Given the description of an element on the screen output the (x, y) to click on. 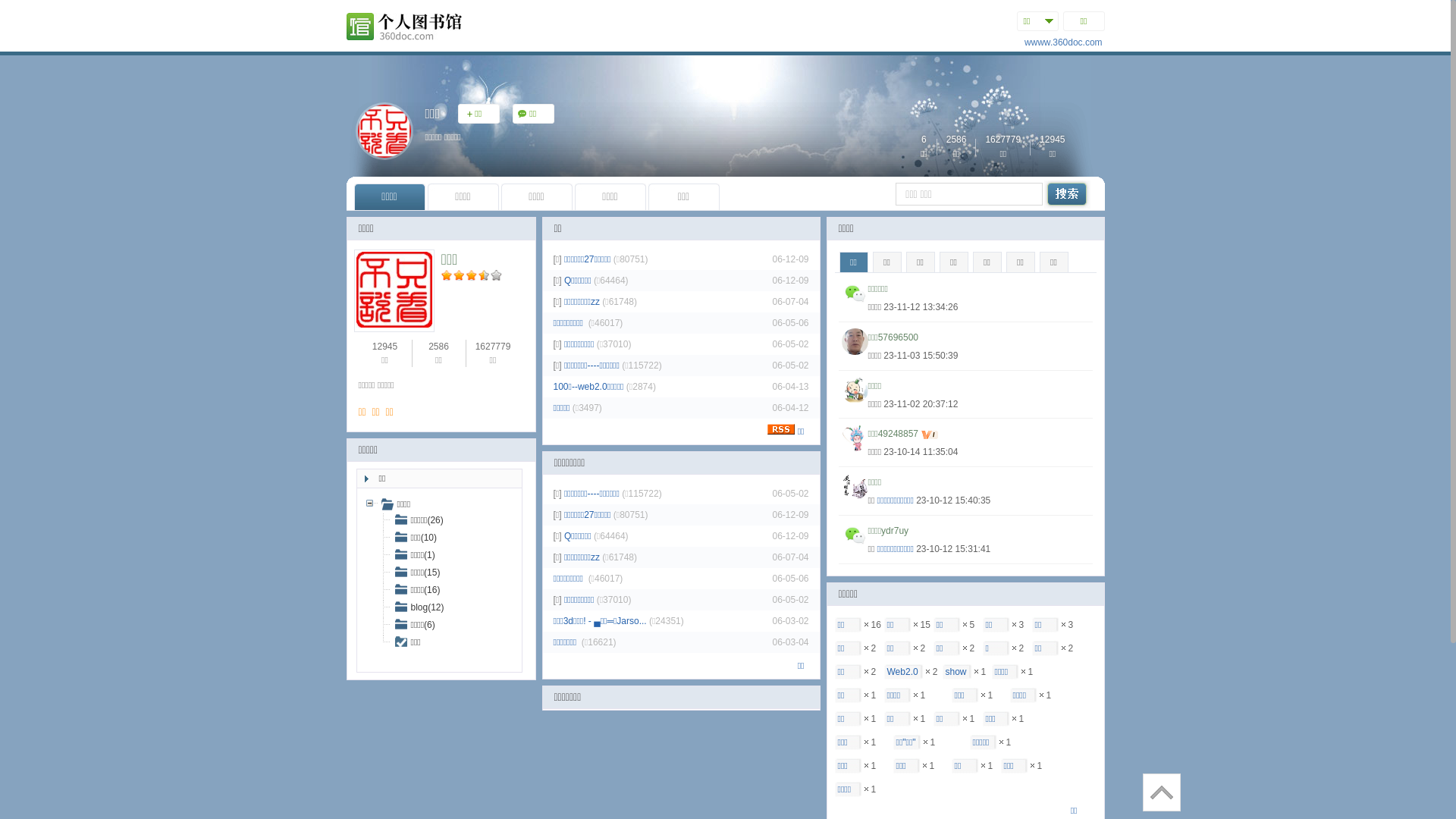
Web2.0 Element type: text (902, 671)
show Element type: text (955, 671)
wwww.360doc.com Element type: text (1063, 42)
blog(12) Element type: text (419, 606)
